Given the description of an element on the screen output the (x, y) to click on. 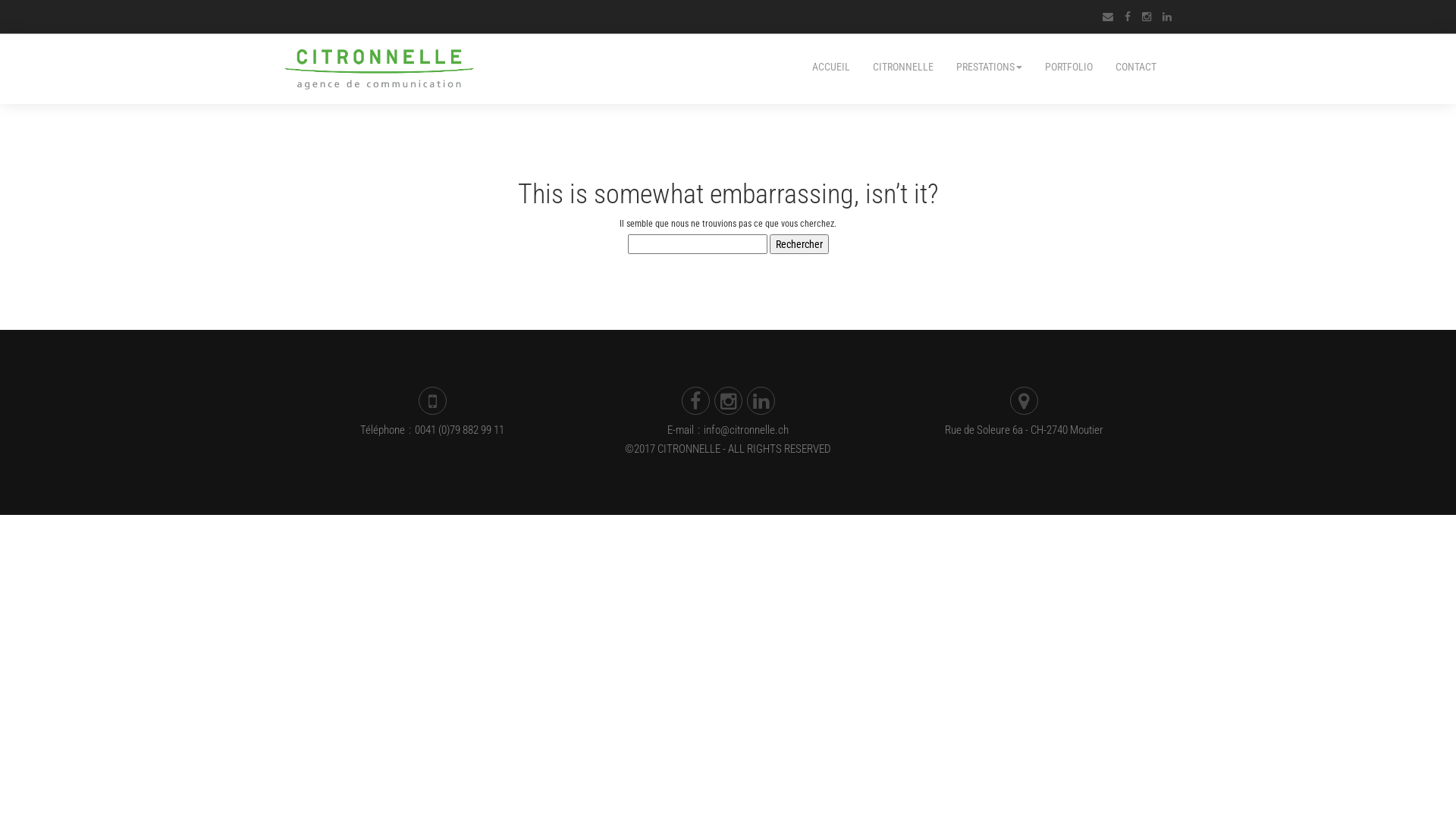
PRESTATIONS Element type: text (988, 65)
PORTFOLIO Element type: text (1068, 65)
CONTACT Element type: text (1130, 65)
CITRONNELLE Element type: text (902, 65)
Rechercher Element type: text (798, 244)
ACCUEIL Element type: text (836, 65)
info@citronnelle.ch Element type: text (745, 429)
